Given the description of an element on the screen output the (x, y) to click on. 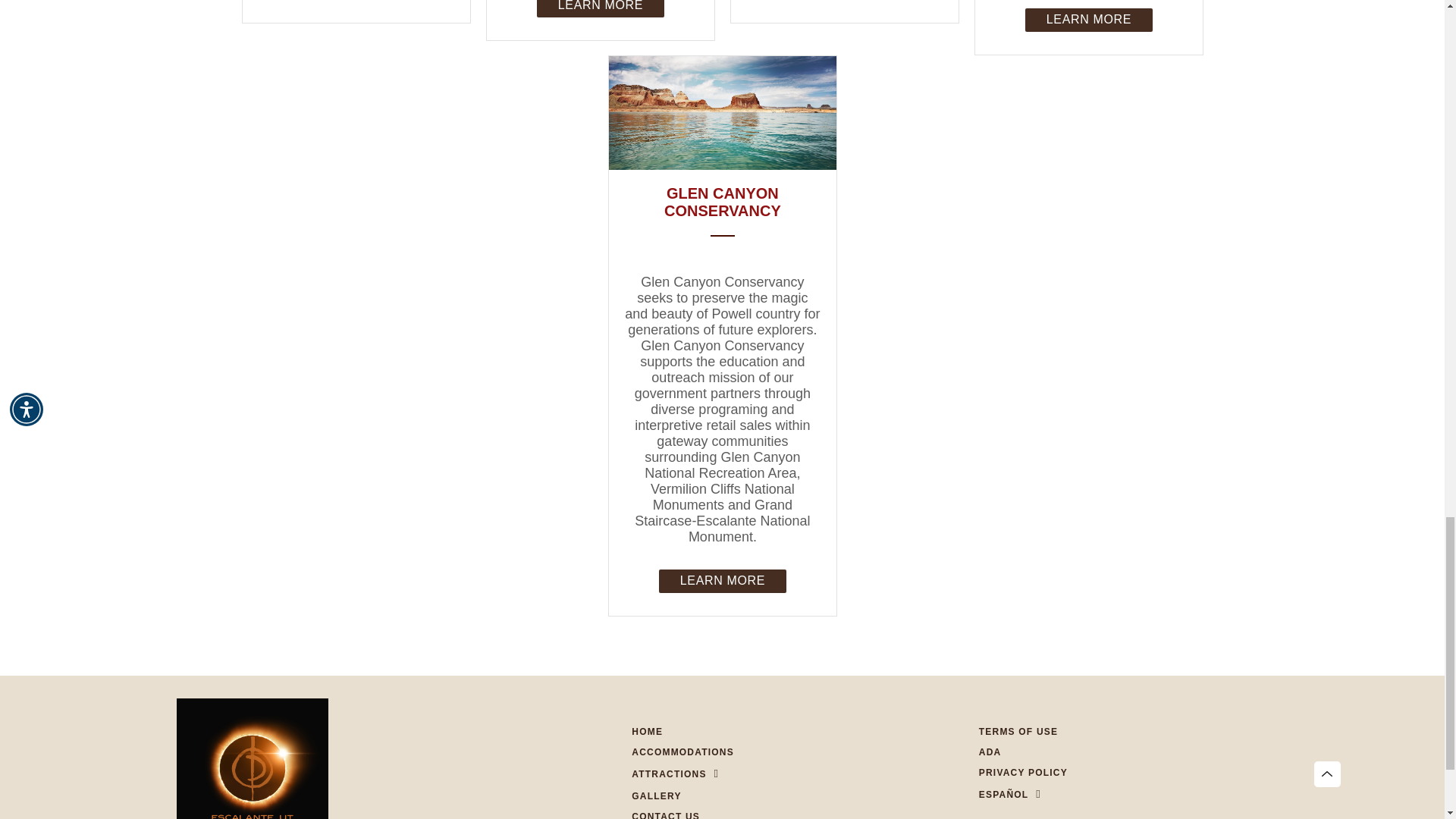
ATTRACTIONS (668, 773)
HOME (646, 731)
LEARN MORE (599, 8)
LEARN MORE (1088, 19)
LEARN MORE (722, 580)
ACCOMMODATIONS (682, 752)
